Given the description of an element on the screen output the (x, y) to click on. 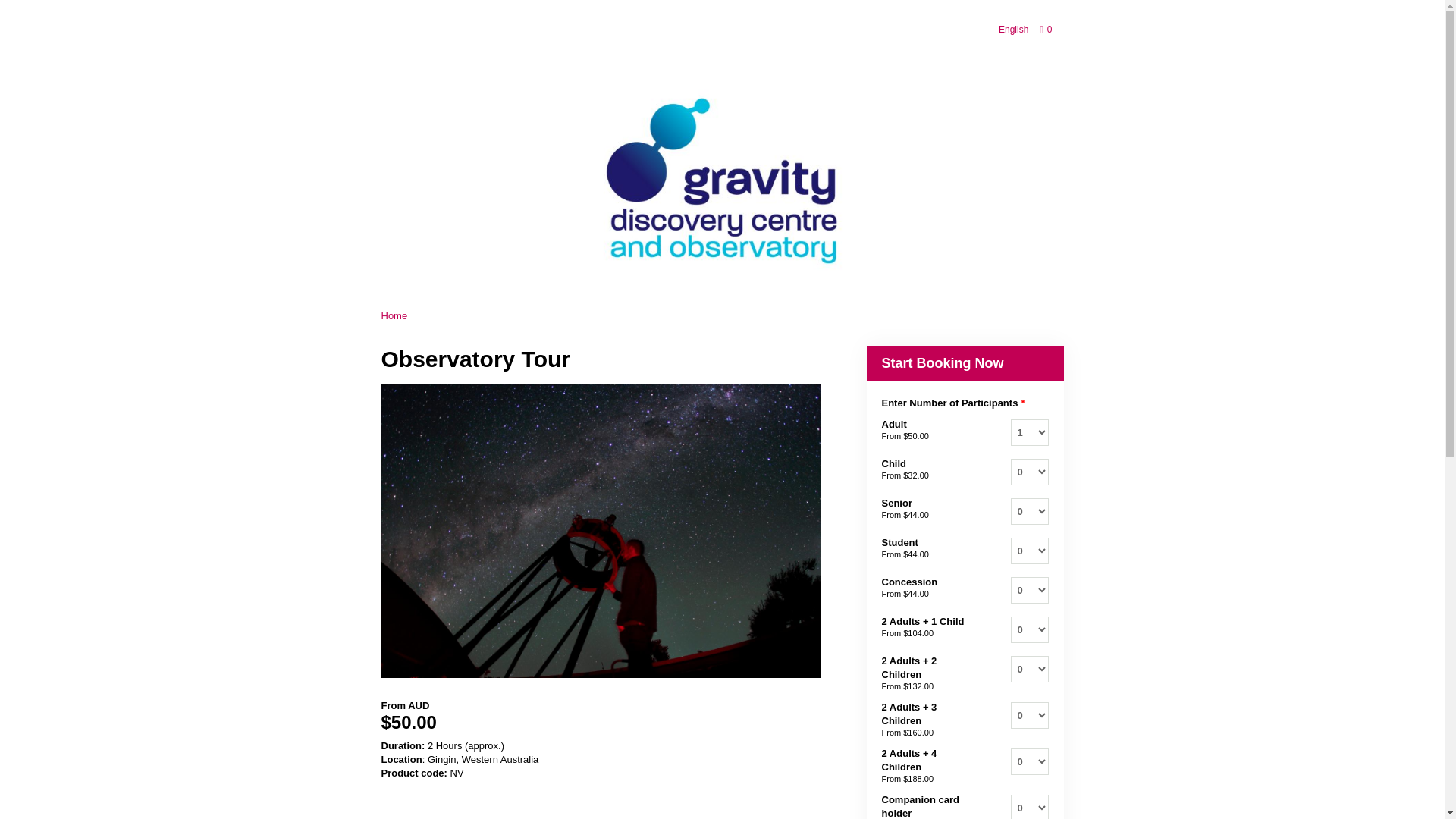
English (1012, 29)
0 (1047, 30)
Home (393, 315)
